Given the description of an element on the screen output the (x, y) to click on. 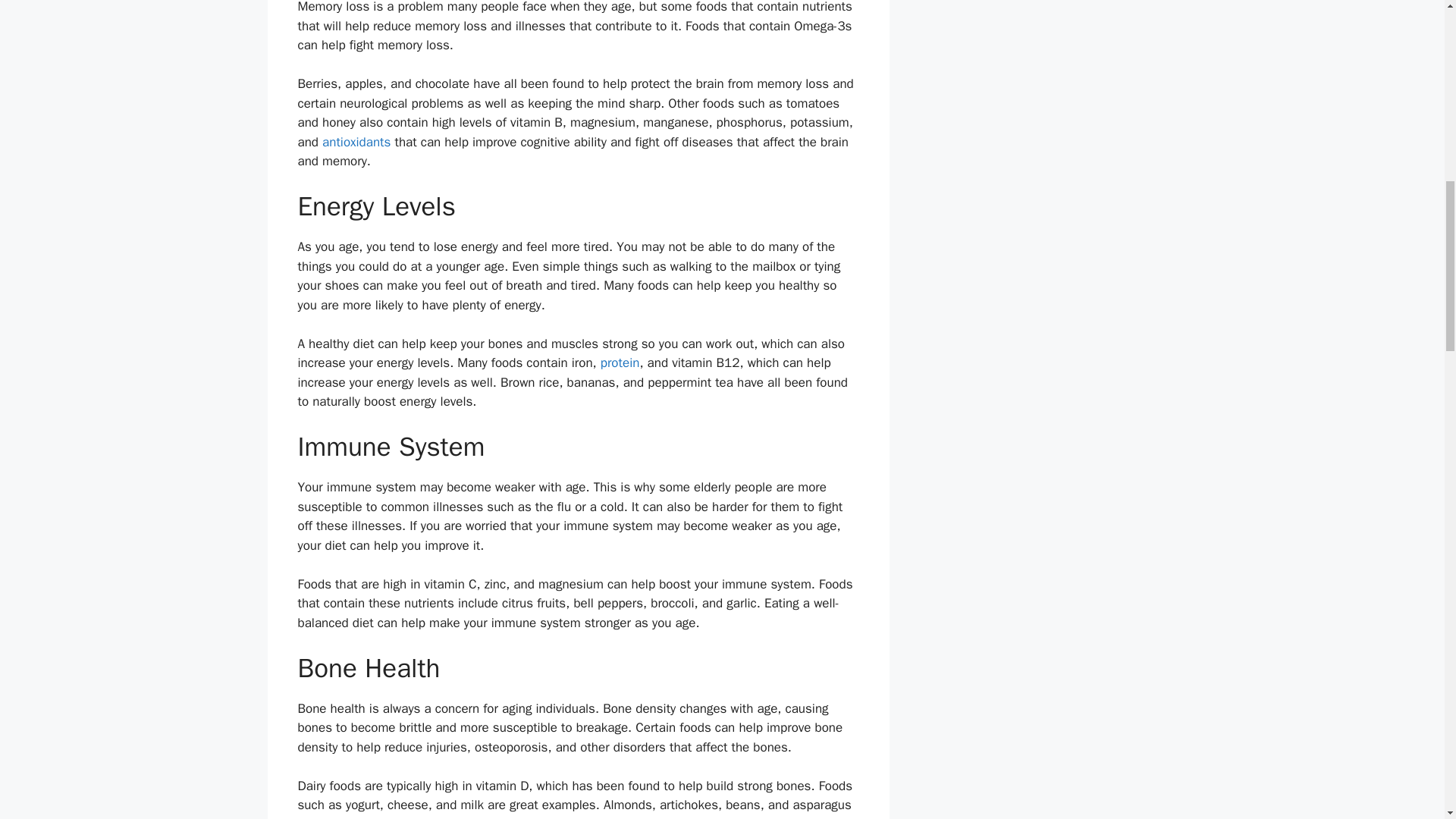
protein (619, 362)
antioxidants (355, 141)
